Given the description of an element on the screen output the (x, y) to click on. 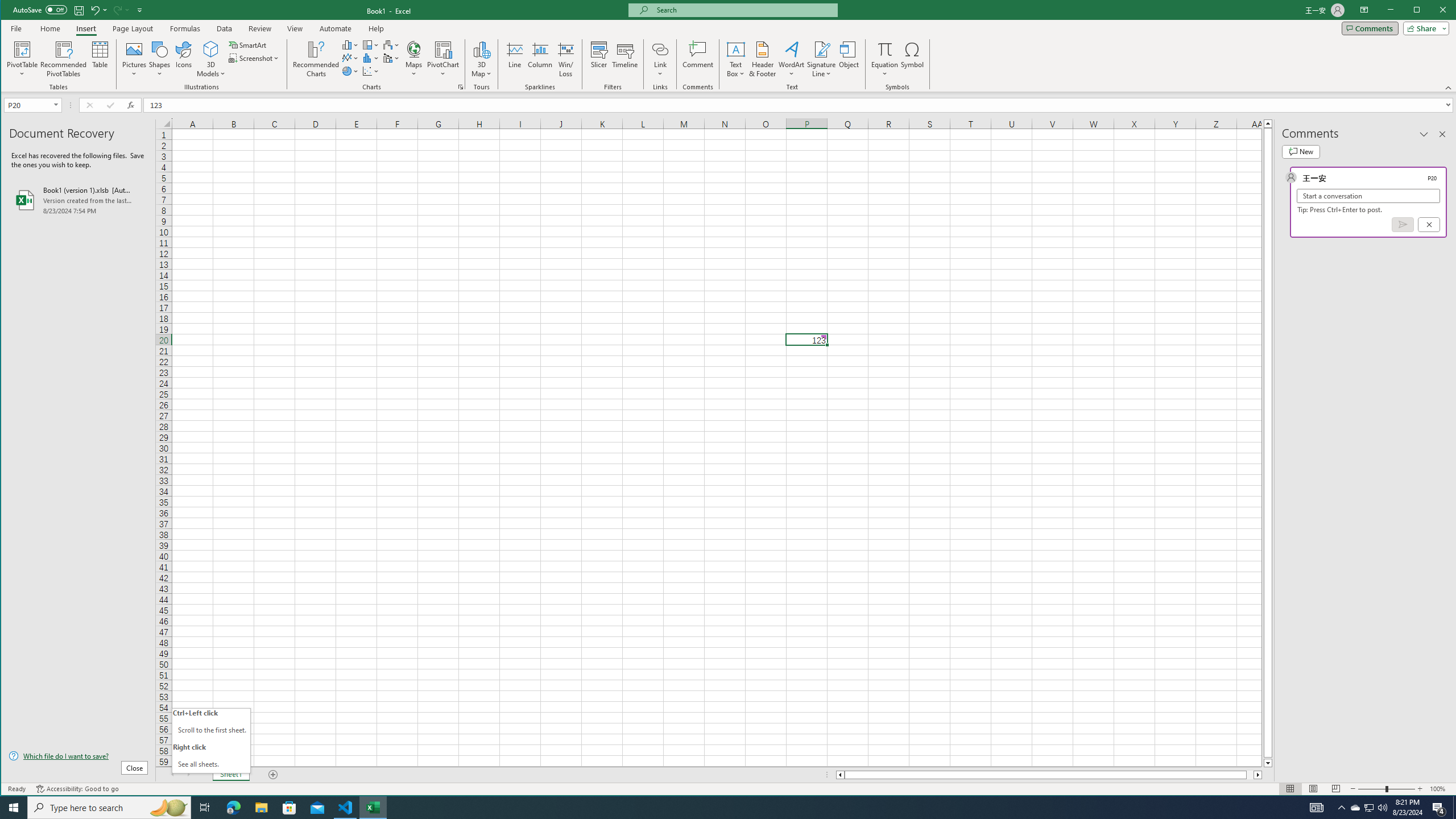
Start a conversation (1368, 195)
Type here to search (108, 807)
Pictures (134, 59)
Close (1445, 11)
Insert Statistic Chart (371, 57)
Insert Pie or Doughnut Chart (350, 70)
Win/Loss (565, 59)
Help (376, 28)
PivotChart (443, 48)
Recommended PivotTables (63, 59)
Action Center, 4 new notifications (1439, 807)
